Given the description of an element on the screen output the (x, y) to click on. 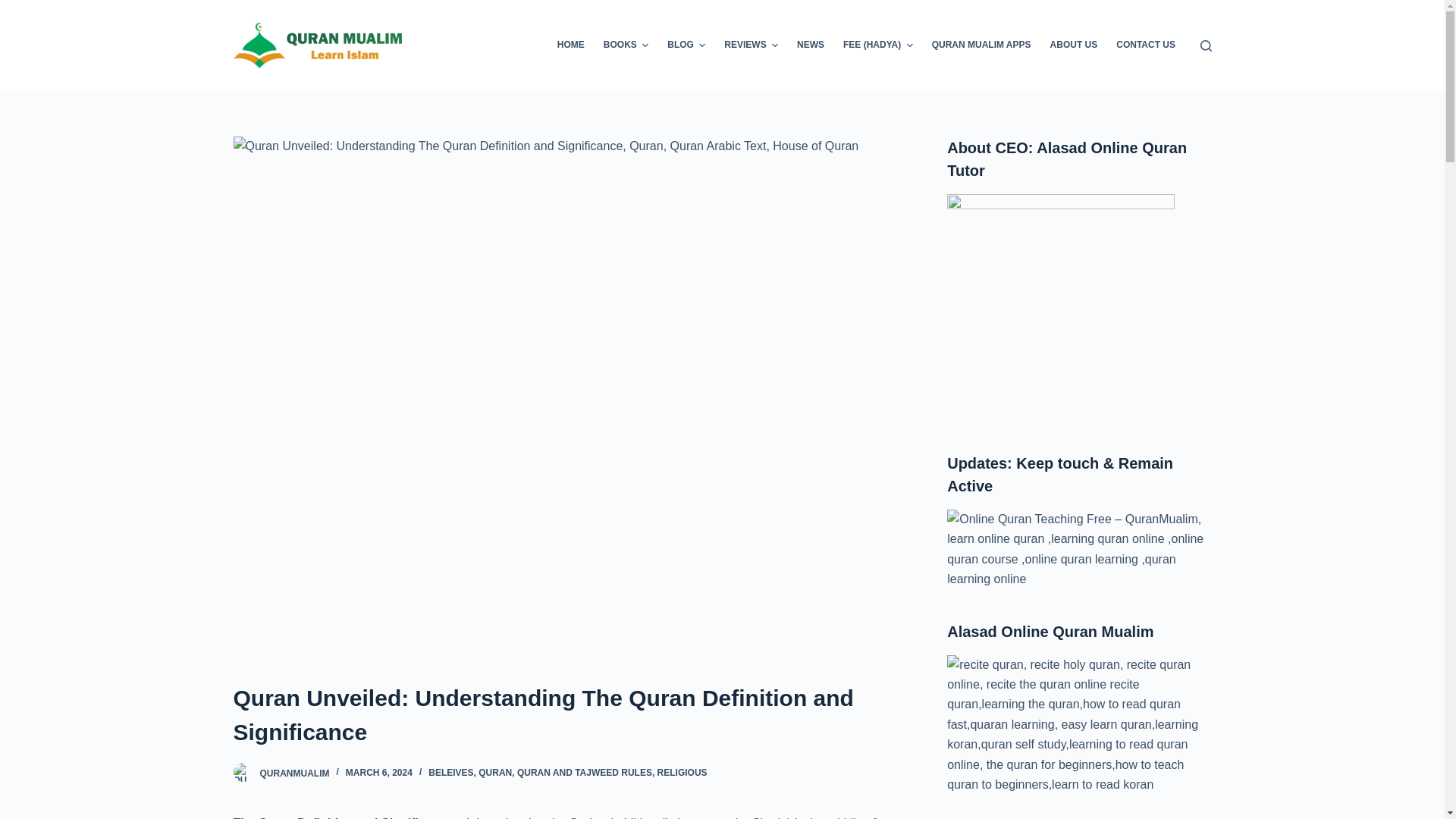
Posts by quranmualim (294, 772)
About CEO (1060, 307)
Alasad Online Quran Mualim (1079, 725)
Skip to content (15, 7)
